Given the description of an element on the screen output the (x, y) to click on. 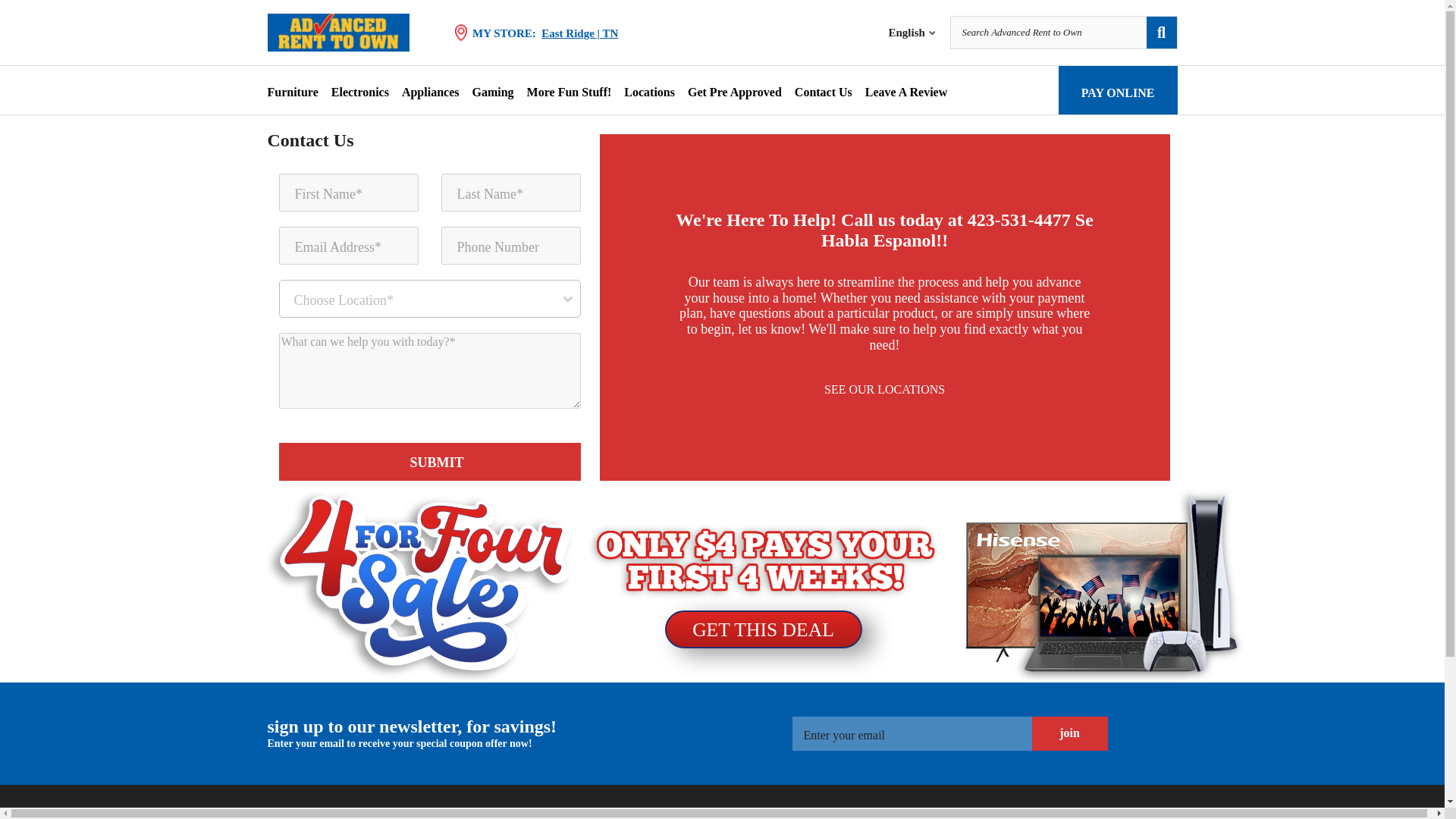
Appliances (430, 91)
More Fun Stuff! (569, 91)
Contact Us (822, 91)
SEE OUR LOCATIONS (884, 389)
Locations (649, 91)
PAY ONLINE (1117, 90)
Get Pre Approved (734, 91)
Gaming (492, 91)
SUBMIT (429, 461)
SUBMIT (429, 461)
join (1068, 733)
Furniture (291, 91)
Electronics (359, 91)
Leave A Review (905, 91)
